Given the description of an element on the screen output the (x, y) to click on. 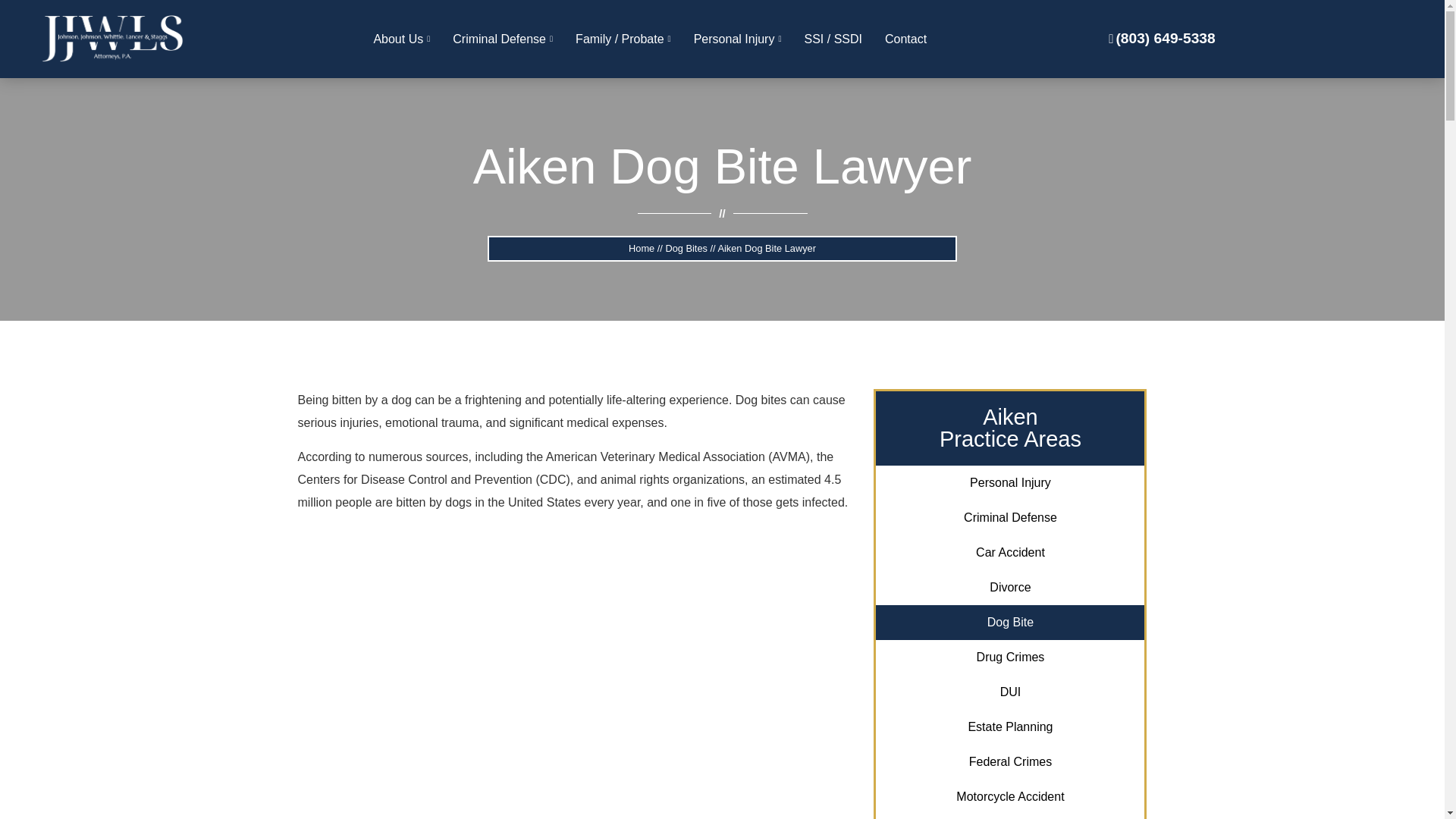
Criminal Defense (502, 39)
About Us (401, 39)
